Given the description of an element on the screen output the (x, y) to click on. 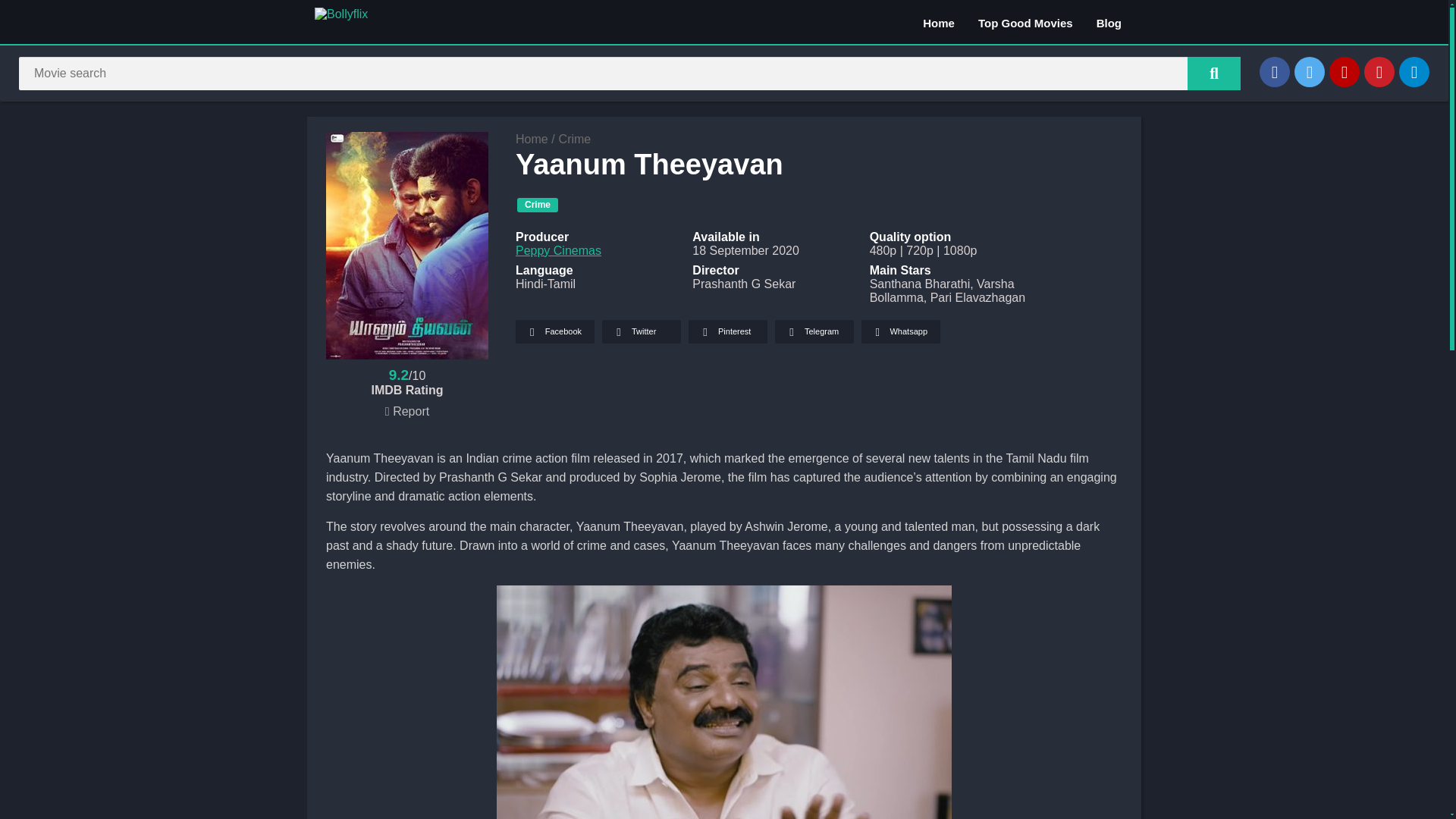
Top Good Movies (1025, 22)
Facebook (554, 331)
Bollyflix (531, 138)
Pinterest (1379, 71)
Crime (536, 205)
Twitter (641, 331)
Home (938, 22)
Telegram (1414, 71)
Whatsapp (900, 331)
Home (531, 138)
